Given the description of an element on the screen output the (x, y) to click on. 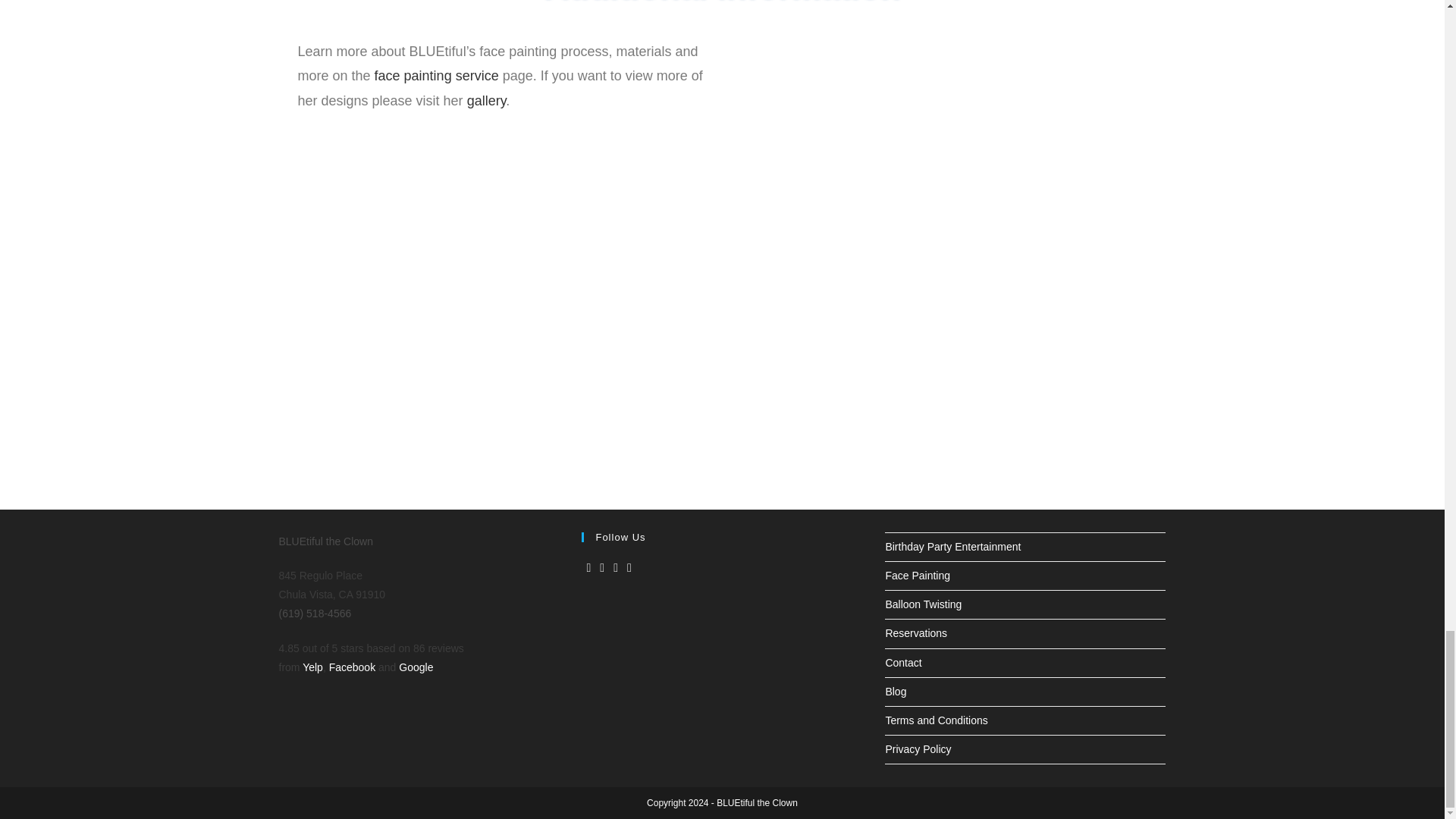
Facebook (352, 666)
gallery (486, 100)
Google (415, 666)
face painting service (436, 75)
Yelp (312, 666)
